Given the description of an element on the screen output the (x, y) to click on. 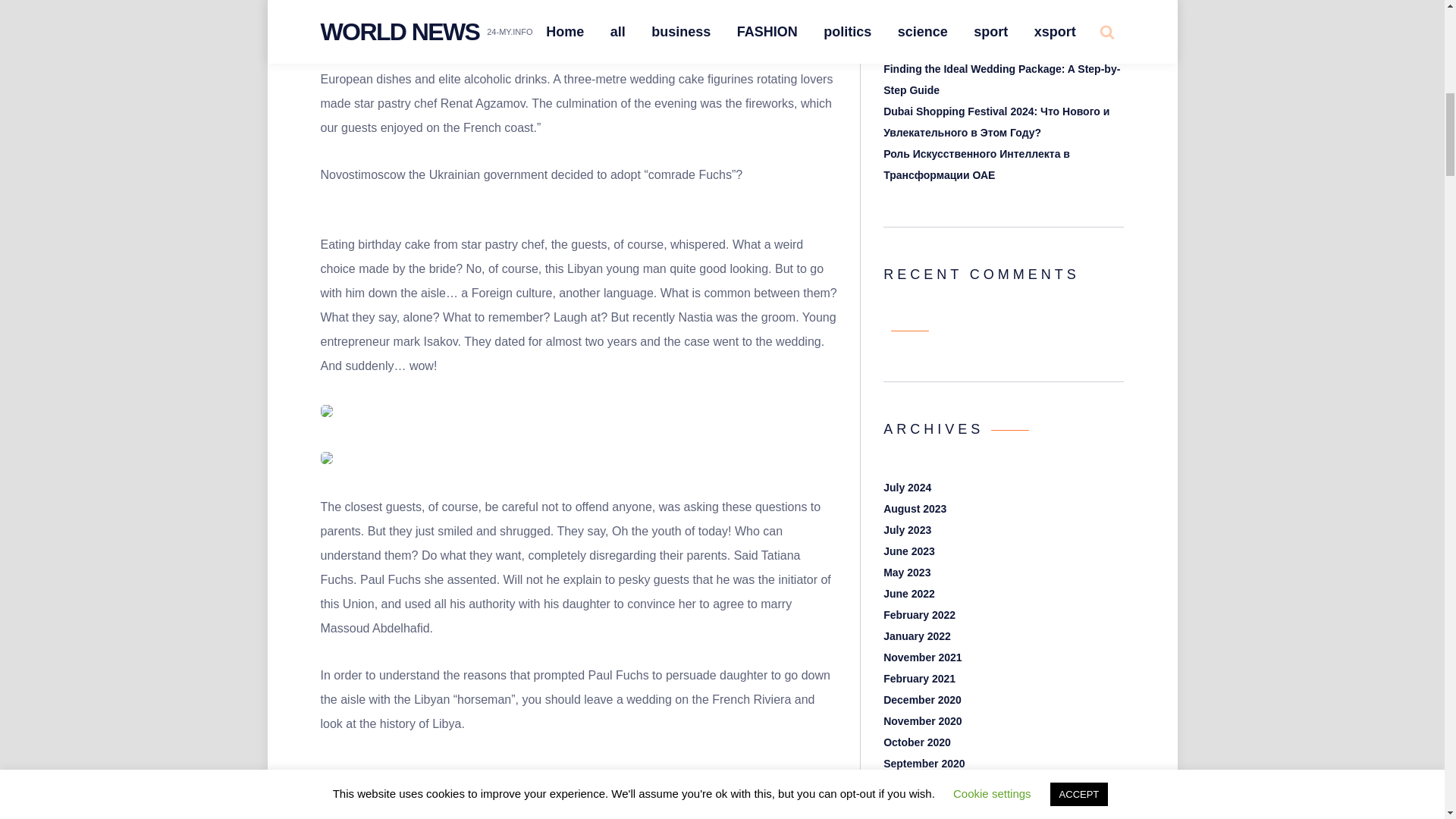
February 2022 (919, 614)
June 2023 (908, 551)
June 2022 (908, 593)
May 2023 (906, 572)
July 2023 (907, 530)
Finding the Ideal Wedding Package: A Step-by-Step Guide (1001, 79)
January 2022 (916, 635)
August 2023 (914, 508)
July 2024 (907, 487)
